Given the description of an element on the screen output the (x, y) to click on. 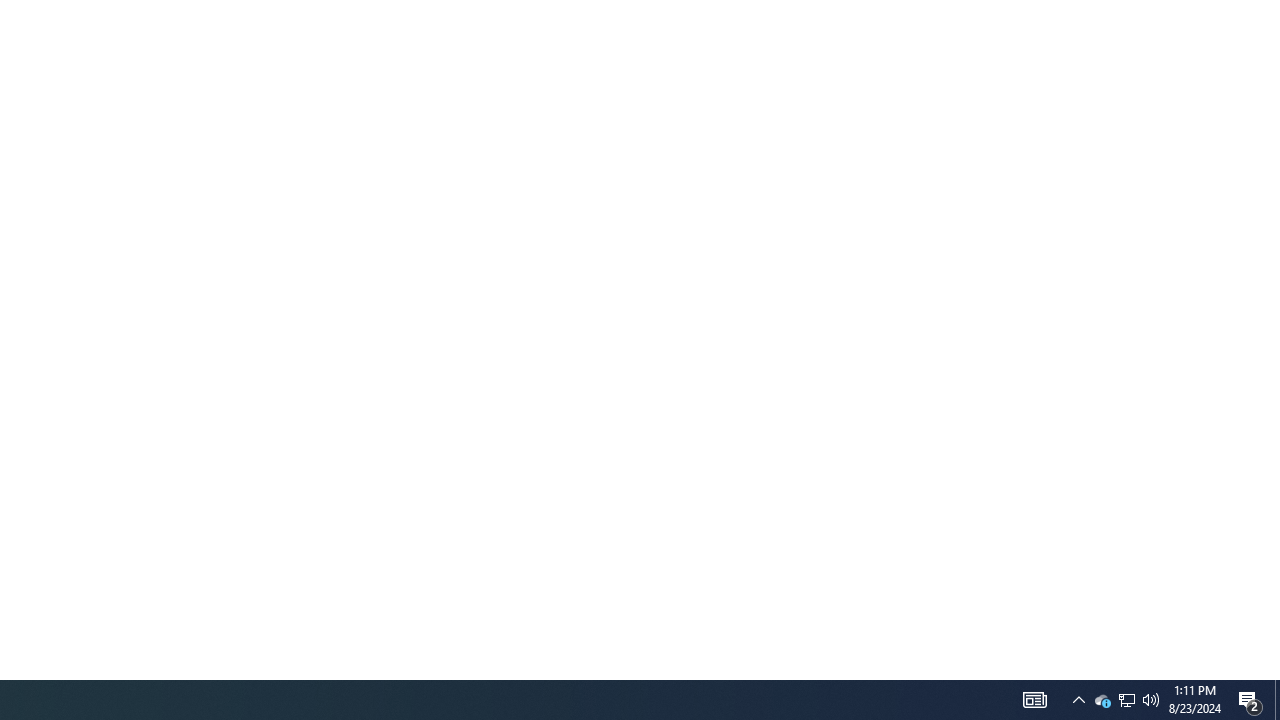
AutomationID: 4105 (1102, 699)
Notification Chevron (1034, 699)
Q2790: 100% (1078, 699)
User Promoted Notification Area (1151, 699)
Show desktop (1126, 699)
Action Center, 2 new notifications (1277, 699)
